Given the description of an element on the screen output the (x, y) to click on. 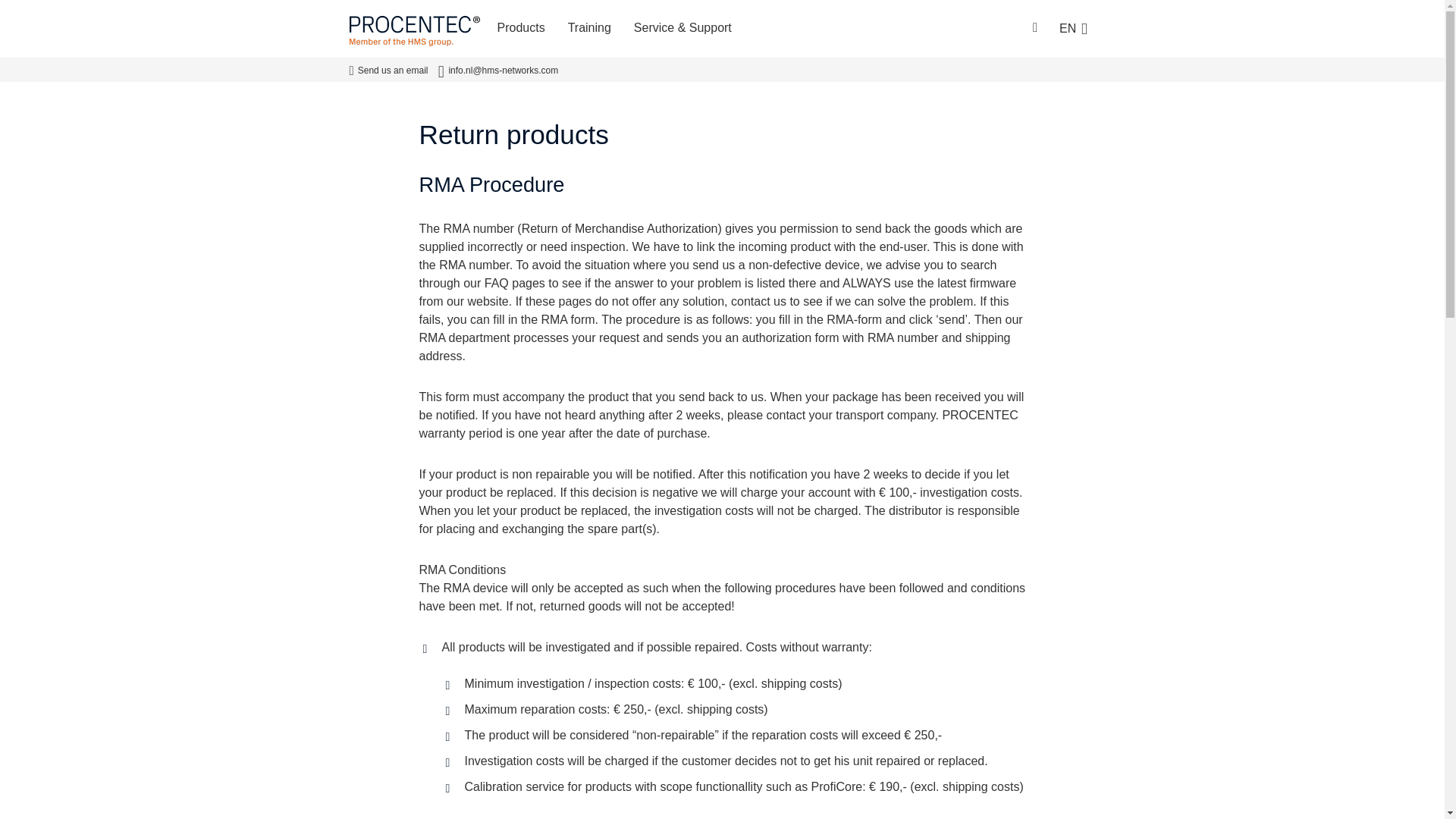
Products (520, 28)
Training (589, 28)
Products (520, 28)
Training (589, 28)
